Given the description of an element on the screen output the (x, y) to click on. 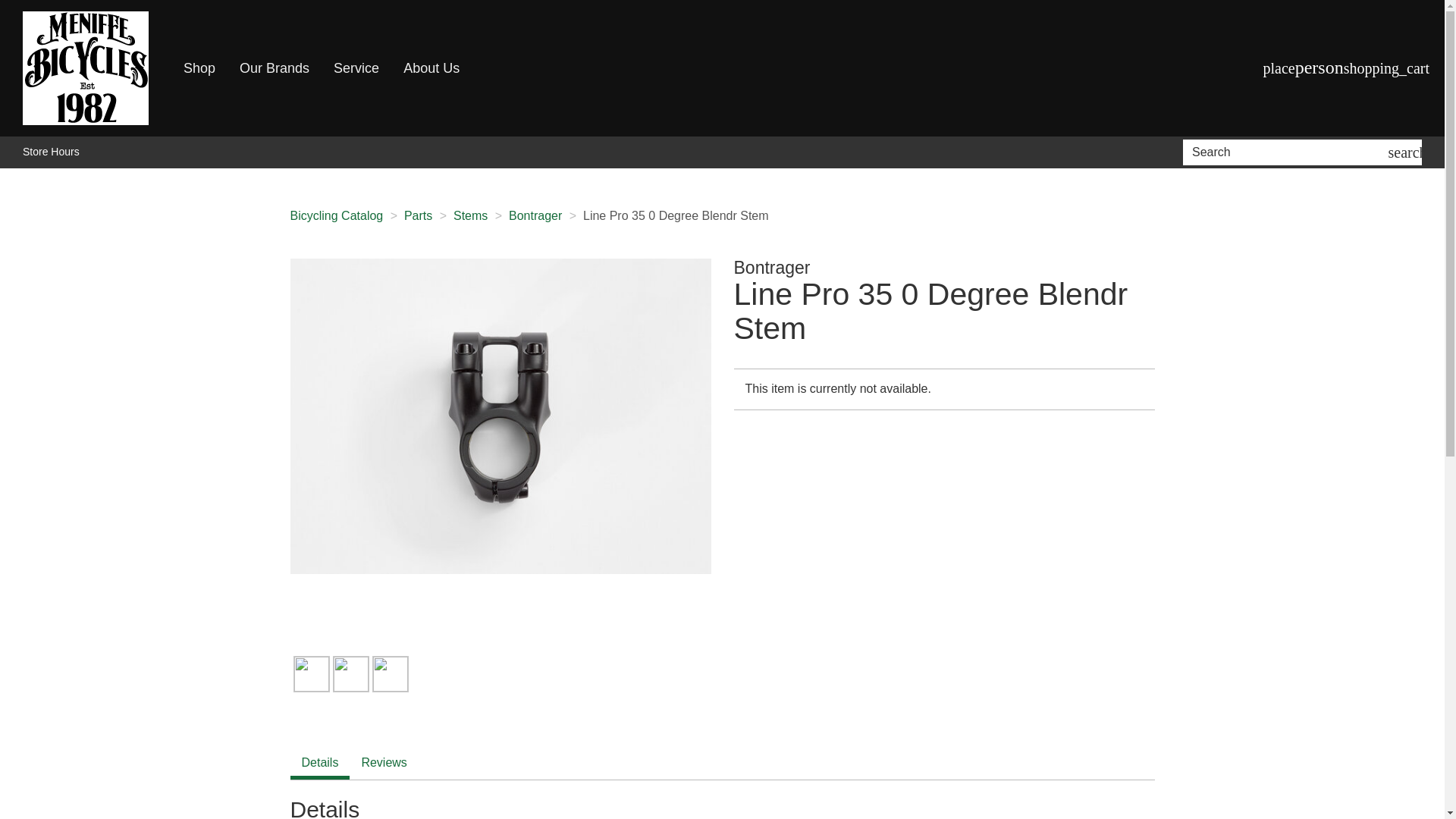
Search (1287, 152)
Account (1319, 68)
Shop (199, 68)
Menifee Bicycles Home Page (86, 68)
Stores (1279, 67)
Store Hours (51, 151)
Bontrager Line Pro 35 0 Degree Blendr Stem (499, 416)
